Given the description of an element on the screen output the (x, y) to click on. 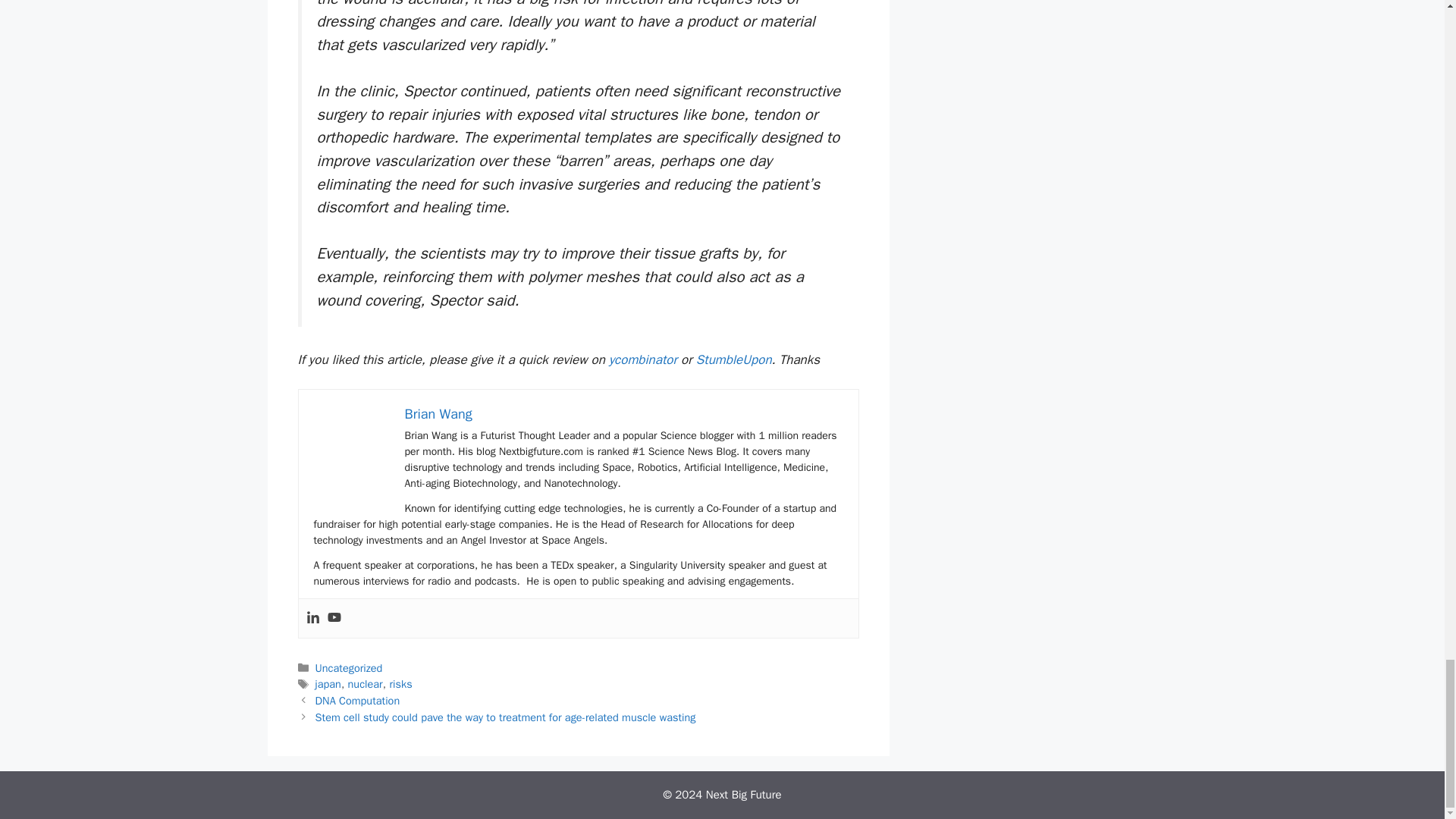
Brian Wang (437, 413)
Uncategorized (348, 667)
ycombinator (642, 359)
StumbleUpon (733, 359)
